Given the description of an element on the screen output the (x, y) to click on. 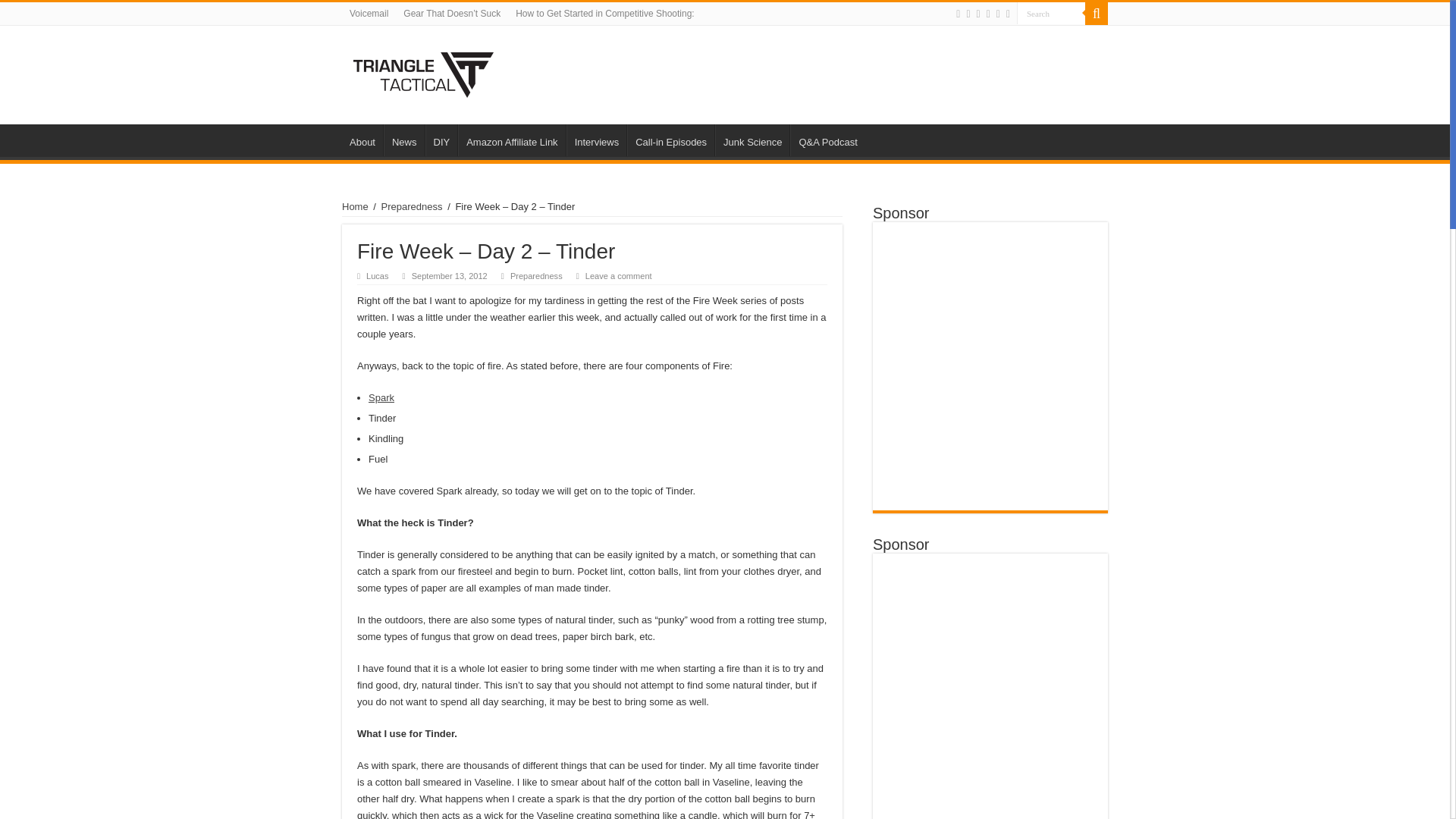
Preparedness (536, 275)
Home (355, 206)
About (362, 140)
Voicemail (369, 13)
Search (1096, 13)
Spark (381, 397)
Preparedness (411, 206)
Junk Science (751, 140)
Search (1050, 13)
How to Get Started in Competitive Shooting: (604, 13)
